Given the description of an element on the screen output the (x, y) to click on. 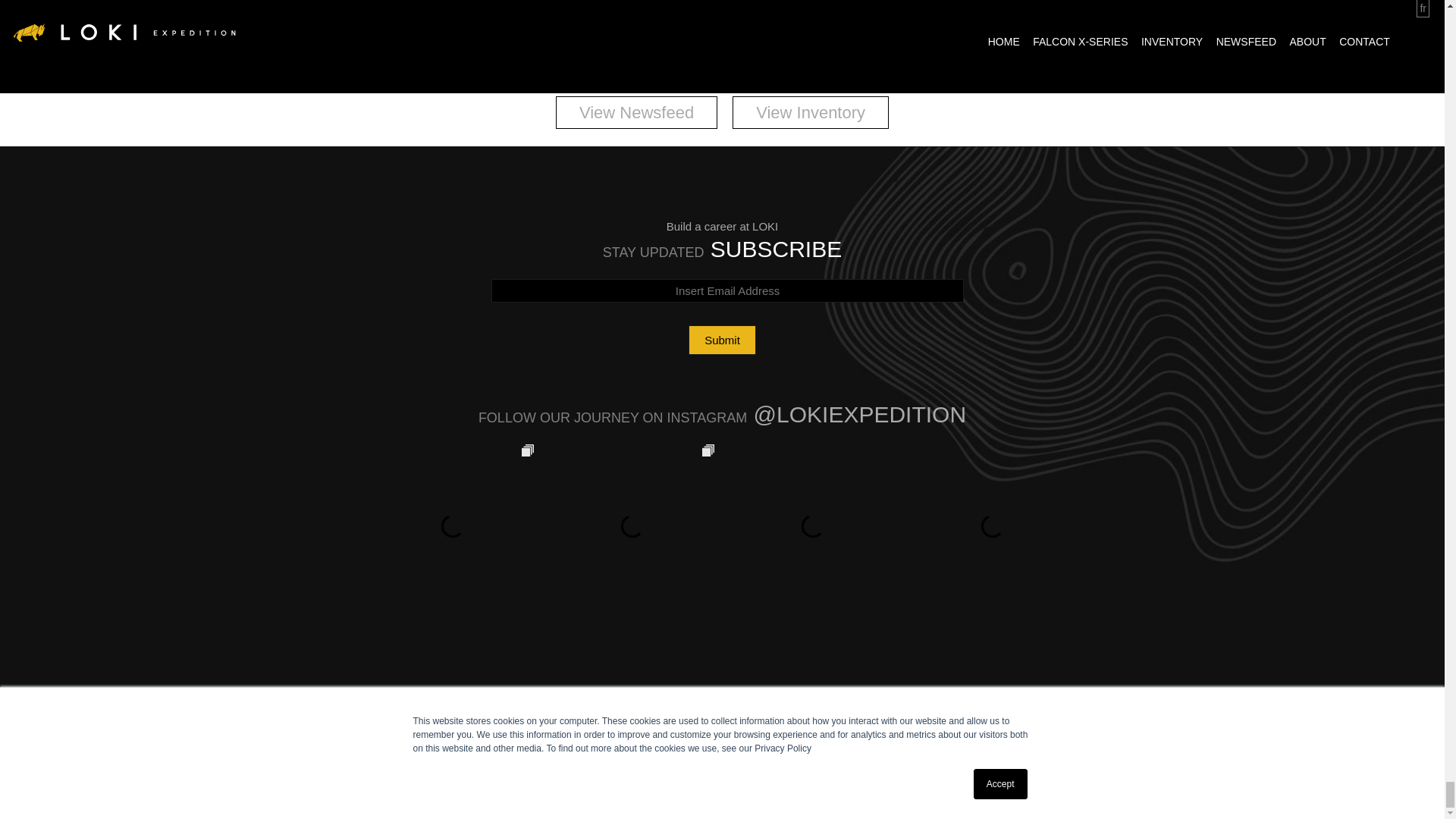
Submit (721, 339)
